Given the description of an element on the screen output the (x, y) to click on. 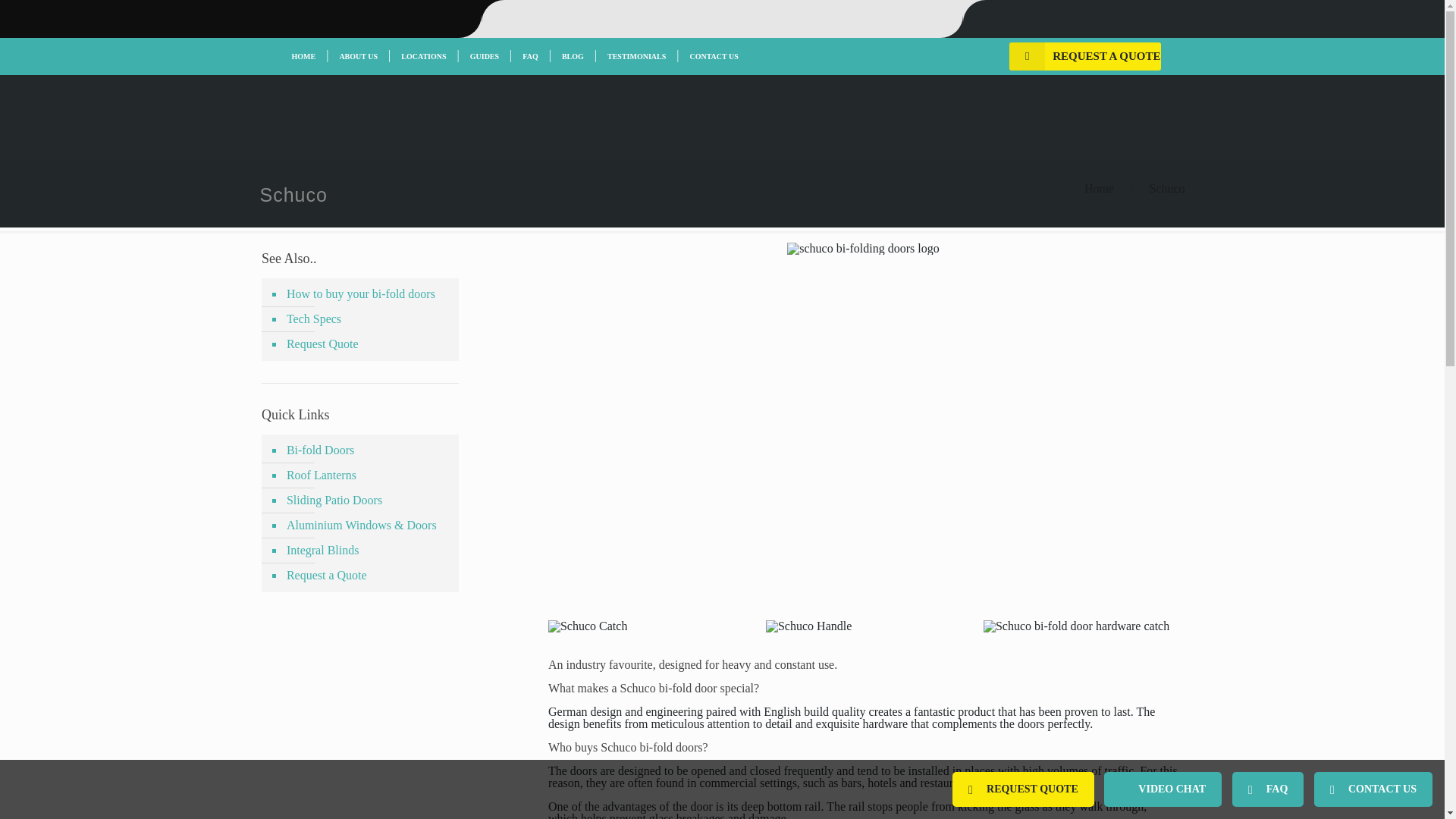
REQUEST A QUOTE (1084, 56)
LOCATIONS (422, 56)
HOME (303, 56)
BLOG (572, 56)
TESTIMONIALS (635, 56)
FAQ (529, 56)
GUIDES (484, 56)
CONTACT US (713, 56)
ABOUT US (358, 56)
